Given the description of an element on the screen output the (x, y) to click on. 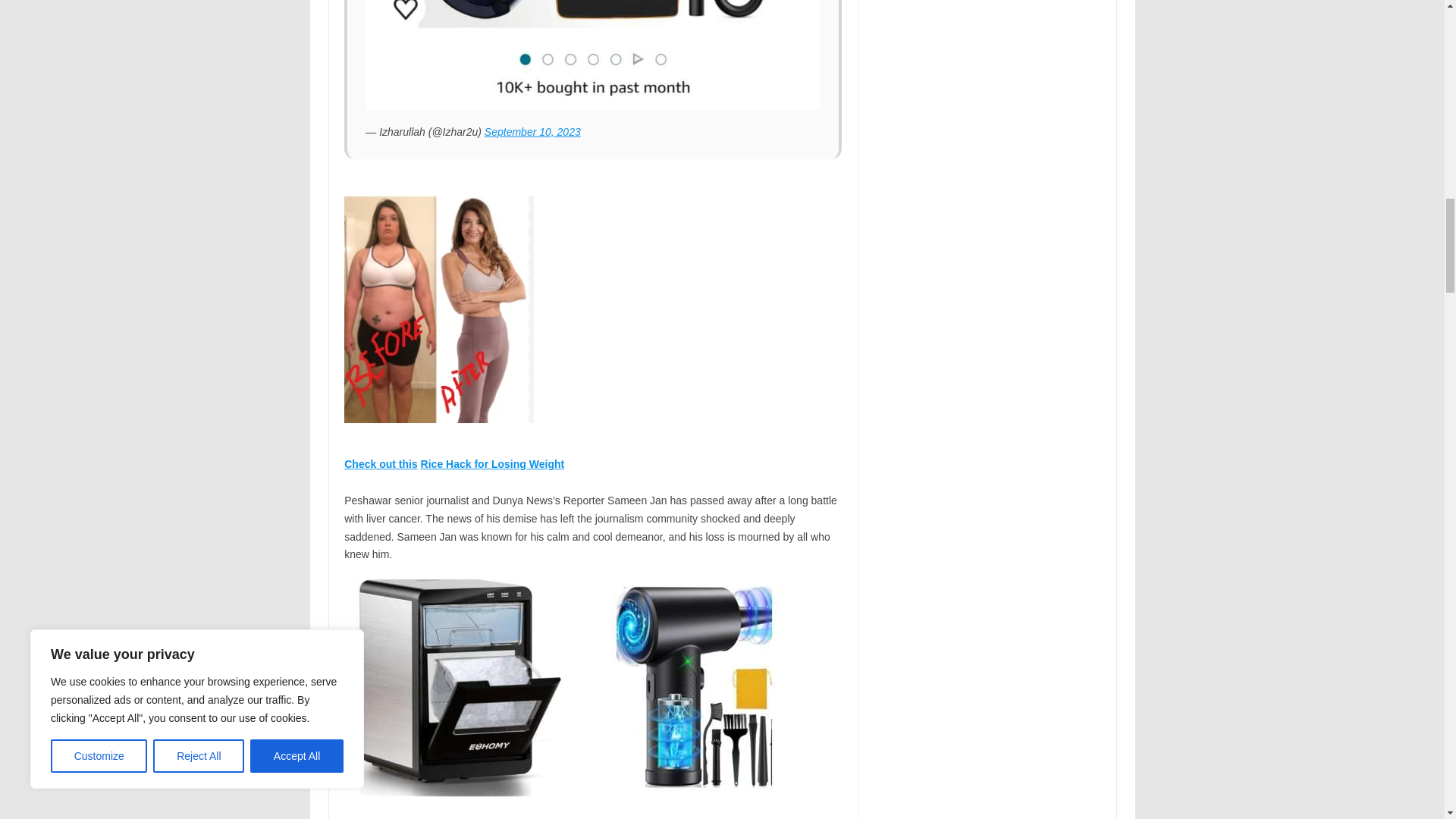
Check ou (367, 463)
Rice Hack for Losing Weight (492, 463)
t this (403, 463)
September 10, 2023 (532, 132)
